Given the description of an element on the screen output the (x, y) to click on. 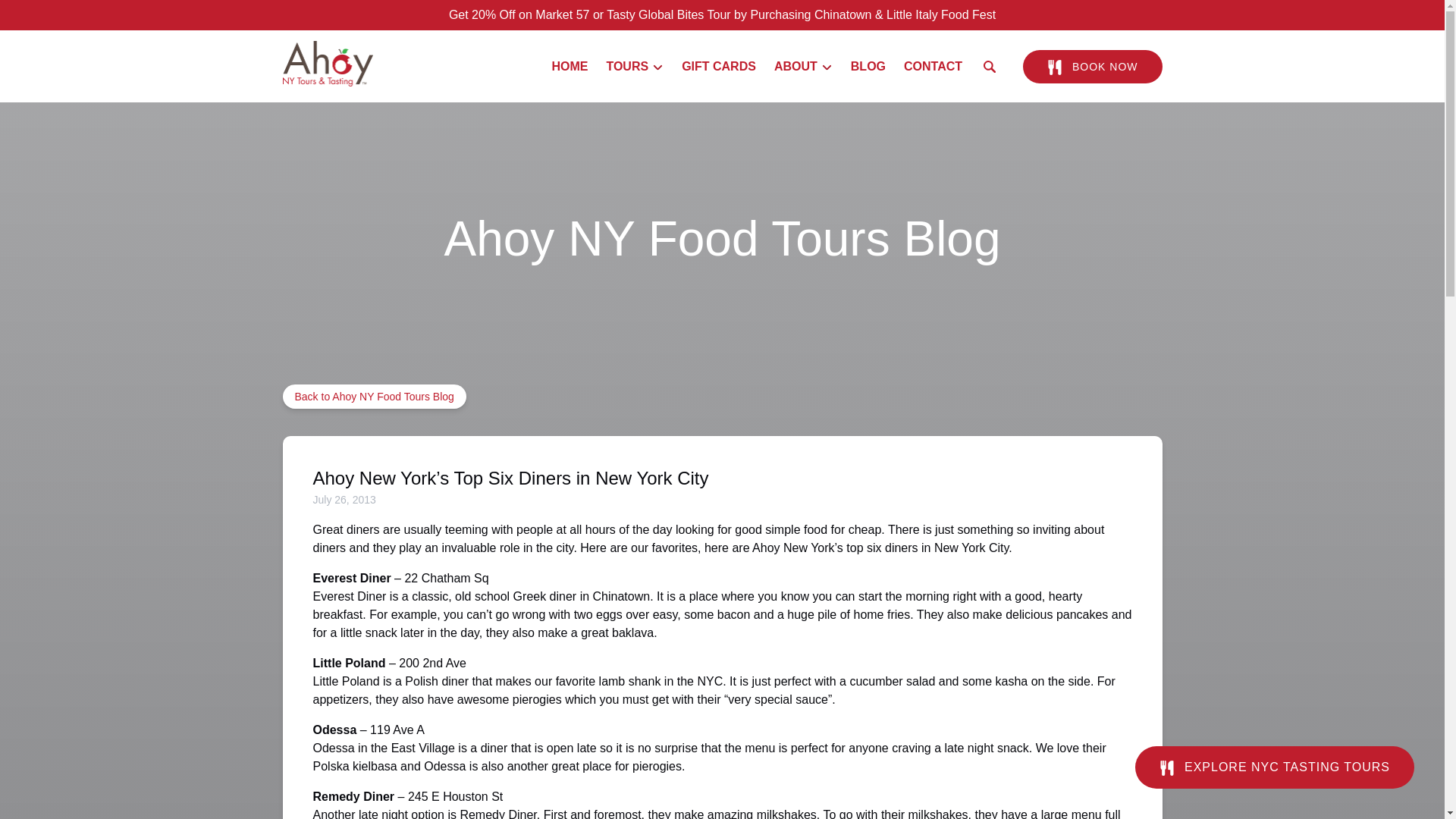
CONTACT (933, 66)
TOURS (634, 66)
Open Tours Menu (638, 62)
return to Ahoy NY Food Tours Blog (373, 396)
FOOD BOOK NOW (1092, 66)
Skip to content (47, 16)
Skip to footer (42, 16)
ABOUT (803, 66)
Back to Ahoy NY Food Tours Blog (373, 396)
FOOD EXPLORE NYC TASTING TOURS (1274, 754)
